Given the description of an element on the screen output the (x, y) to click on. 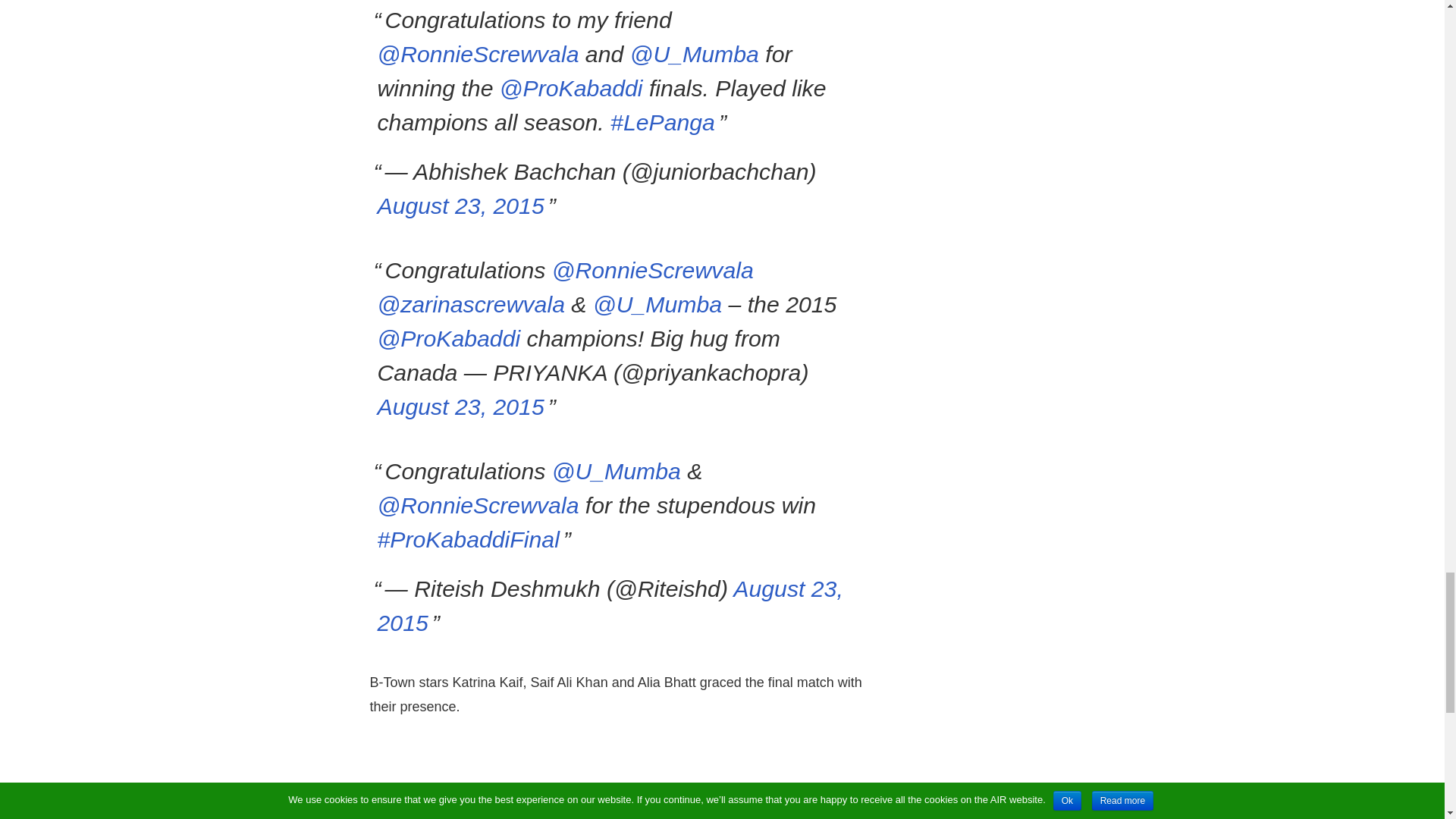
August 23, 2015 (460, 205)
Home (383, 815)
August 23, 2015 (610, 605)
Sports (424, 815)
August 23, 2015 (460, 406)
